Given the description of an element on the screen output the (x, y) to click on. 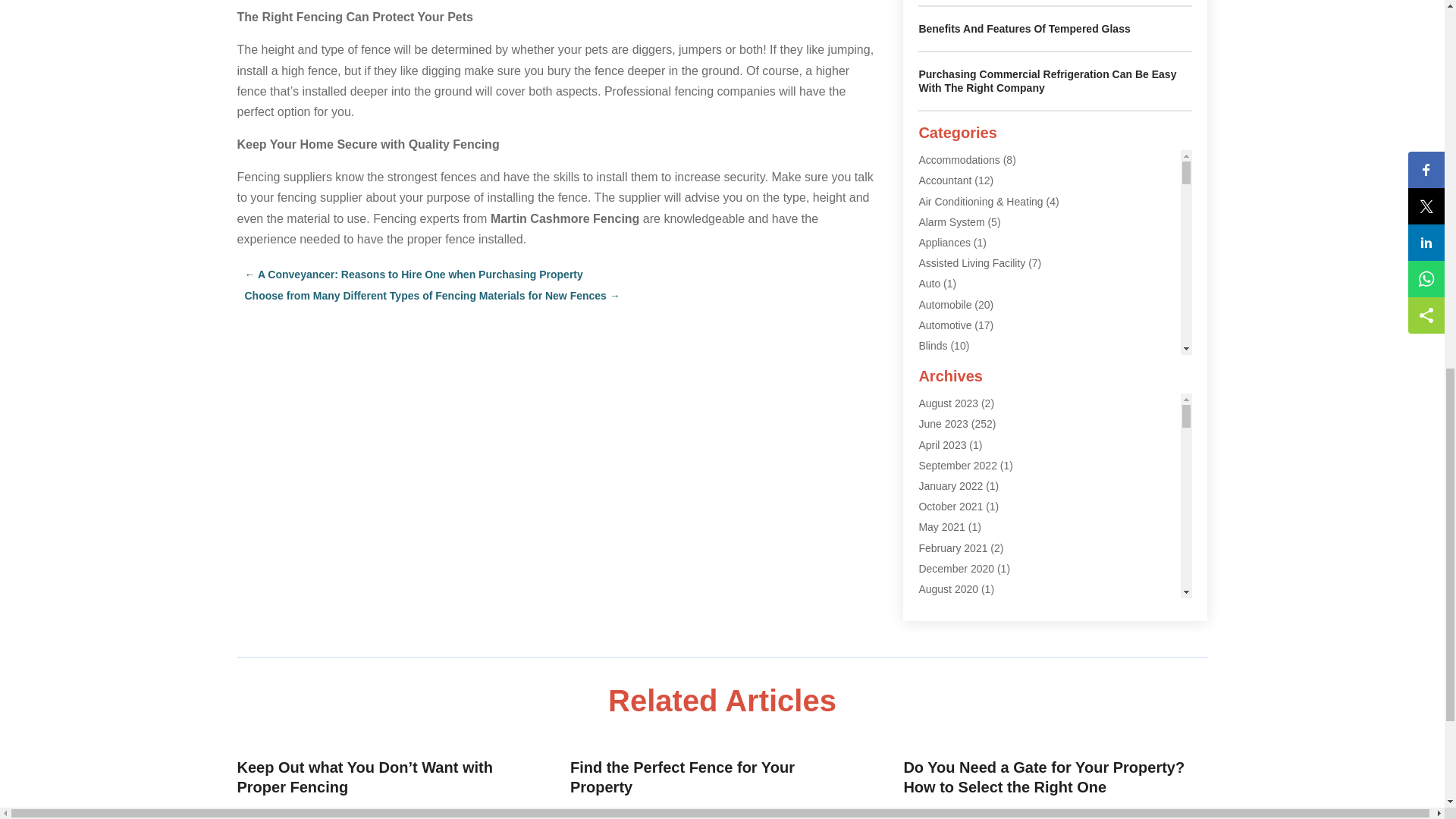
Accountant (944, 180)
Builders (937, 366)
Accommodations (958, 159)
Chiropractor (947, 490)
Blinds (932, 345)
Catholic School (954, 469)
Benefits And Features Of Tempered Glass (1023, 28)
Appliances (944, 242)
Auto (929, 283)
Automobile (944, 304)
Car Hire (938, 408)
Business (939, 386)
Carpet Cleaning Service (975, 449)
Automotive (944, 325)
